Given the description of an element on the screen output the (x, y) to click on. 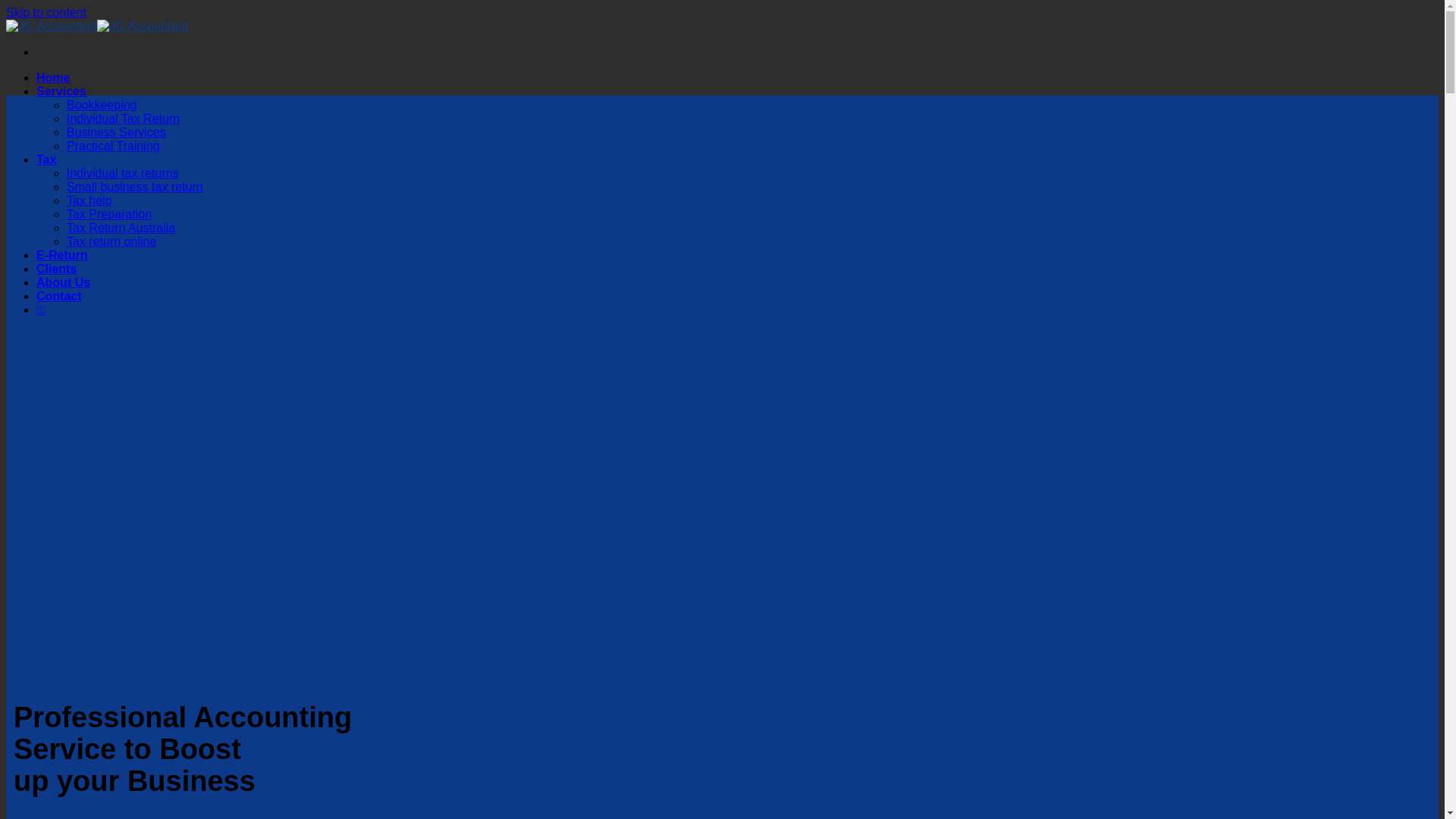
Individual Tax Return Element type: text (122, 118)
Services Element type: text (61, 90)
Individual tax returns Element type: text (122, 172)
Tax Return Australia Element type: text (120, 227)
Small business tax return Element type: text (134, 186)
Business Services Element type: text (116, 131)
Practical Training Element type: text (113, 145)
Skip to content Element type: text (46, 12)
Contact Element type: text (58, 295)
Tax help Element type: text (89, 200)
Home Element type: text (52, 77)
JG Accountant - JG Accountant Element type: hover (97, 25)
Tax Preparation Element type: text (108, 213)
Tax return online Element type: text (111, 241)
About Us Element type: text (63, 282)
Bookkeeping Element type: text (101, 104)
Tax Element type: text (46, 159)
Clients Element type: text (56, 268)
E-Return Element type: text (61, 254)
